Given the description of an element on the screen output the (x, y) to click on. 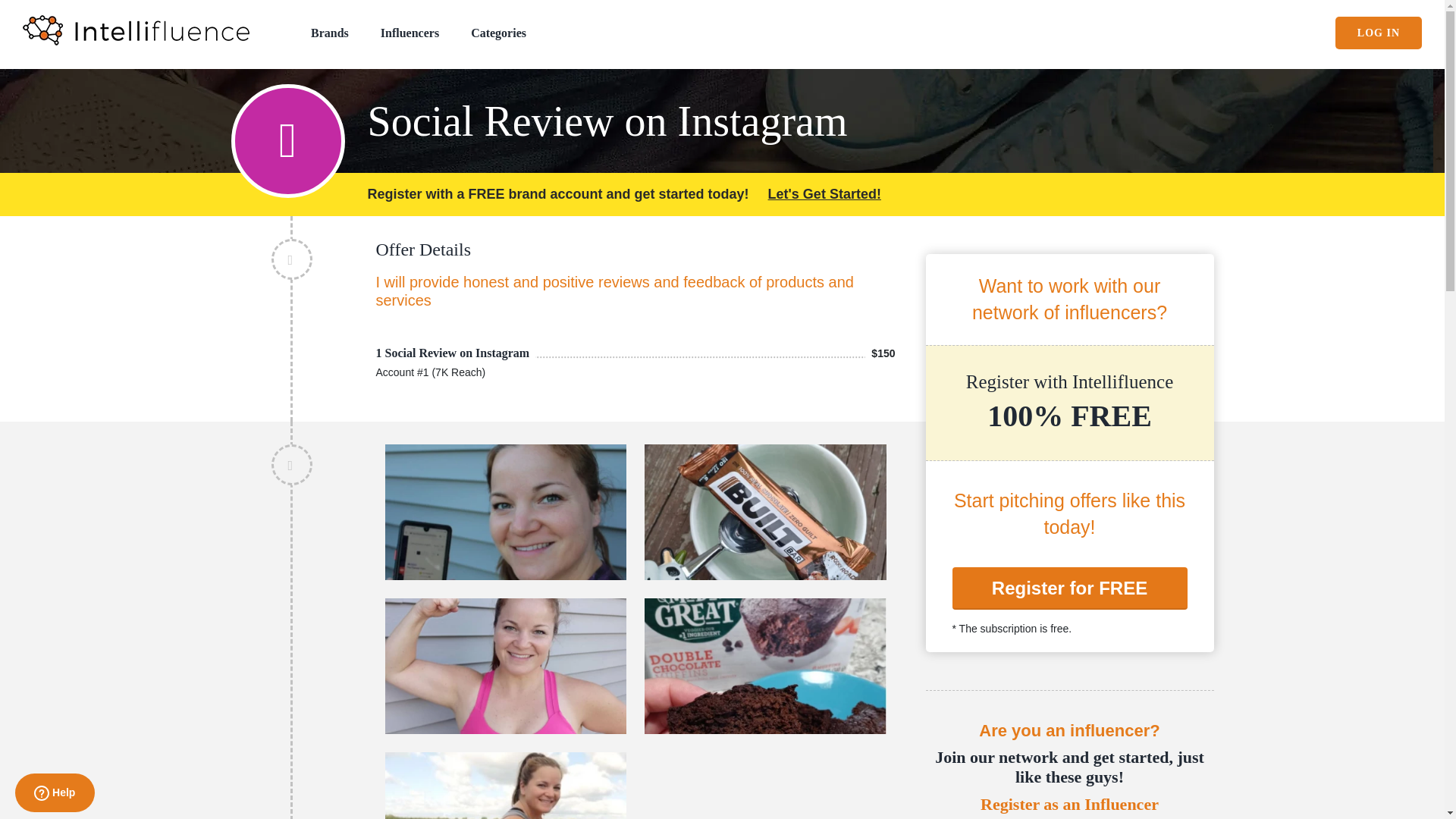
Register for FREE (1070, 588)
Social Review on Instagram (789, 115)
LOG IN (1378, 31)
Let's Get Started! (824, 194)
Register as an Influencer (1068, 804)
Influencers (409, 31)
